Given the description of an element on the screen output the (x, y) to click on. 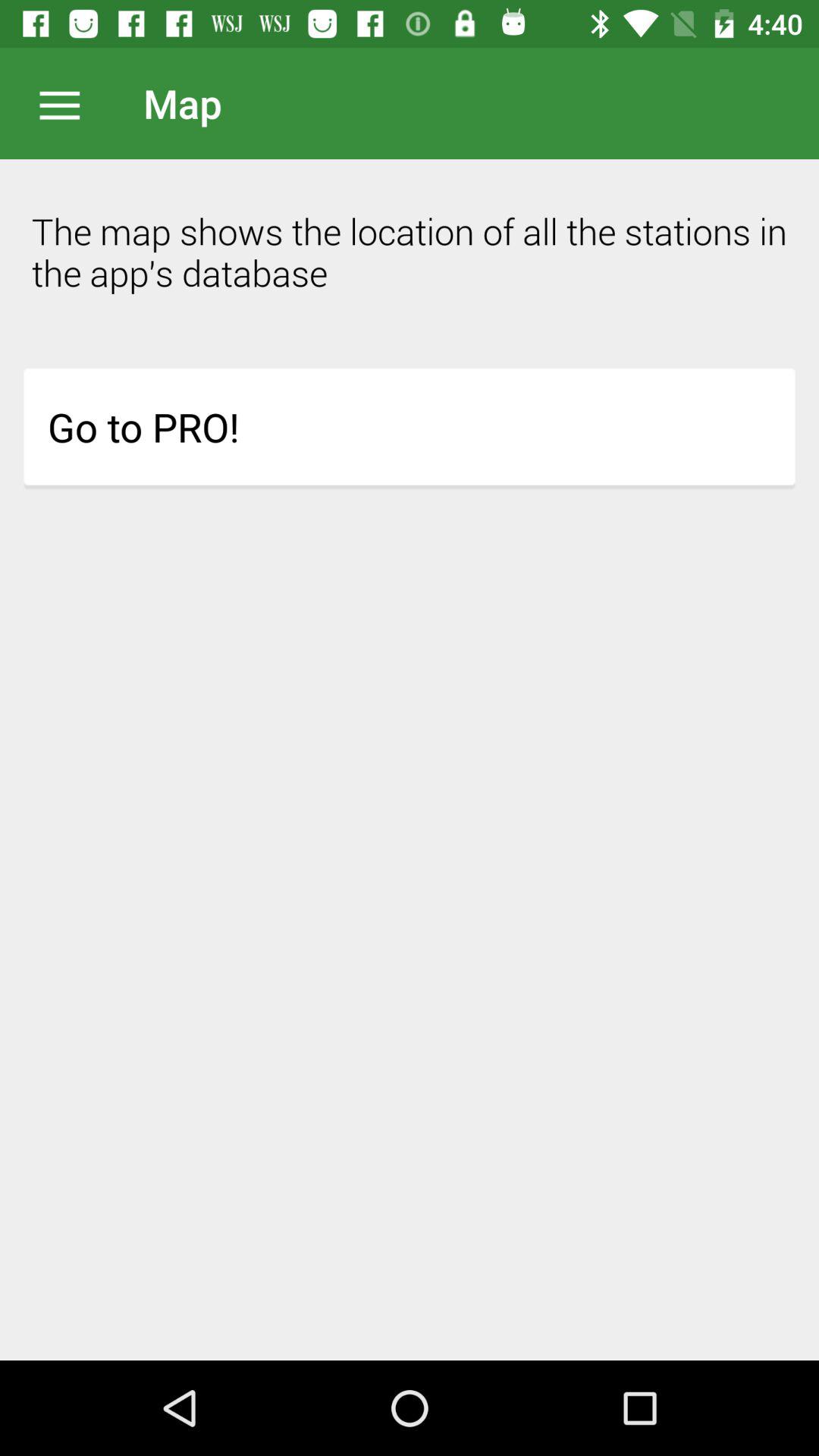
select menu options (67, 103)
